Given the description of an element on the screen output the (x, y) to click on. 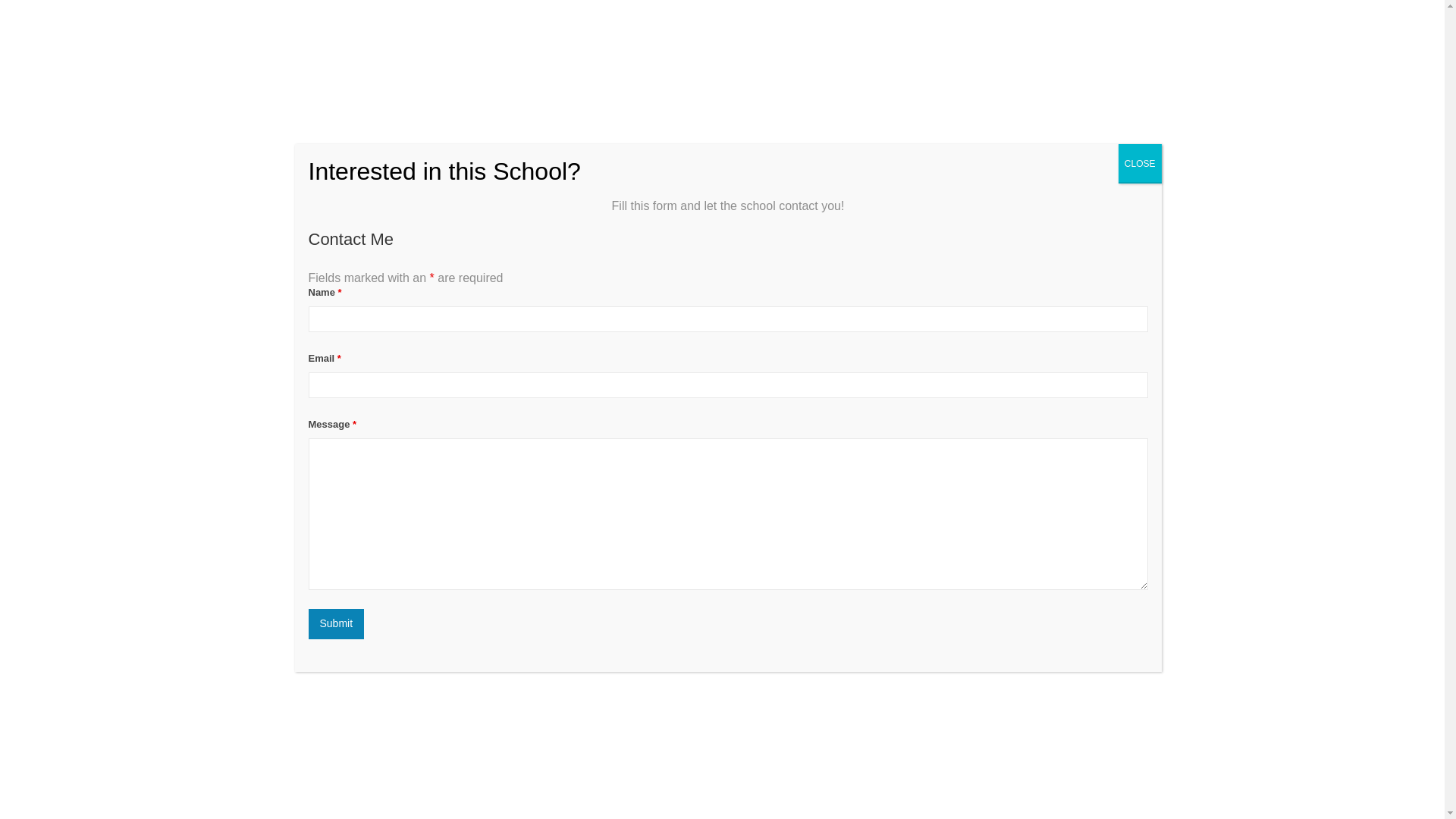
Submit (335, 624)
Share (1128, 390)
Share (1128, 390)
MBA RANKINGS (852, 30)
Submit (335, 624)
CONTACT (1118, 30)
Not rated yet! (307, 325)
United States (332, 355)
Columbus (420, 355)
Description (308, 457)
Post New Review (457, 457)
CLOSE (1139, 163)
BLOG (1061, 30)
MBA Reviews (357, 29)
MBA ACCREDITATIONS (967, 30)
